Given the description of an element on the screen output the (x, y) to click on. 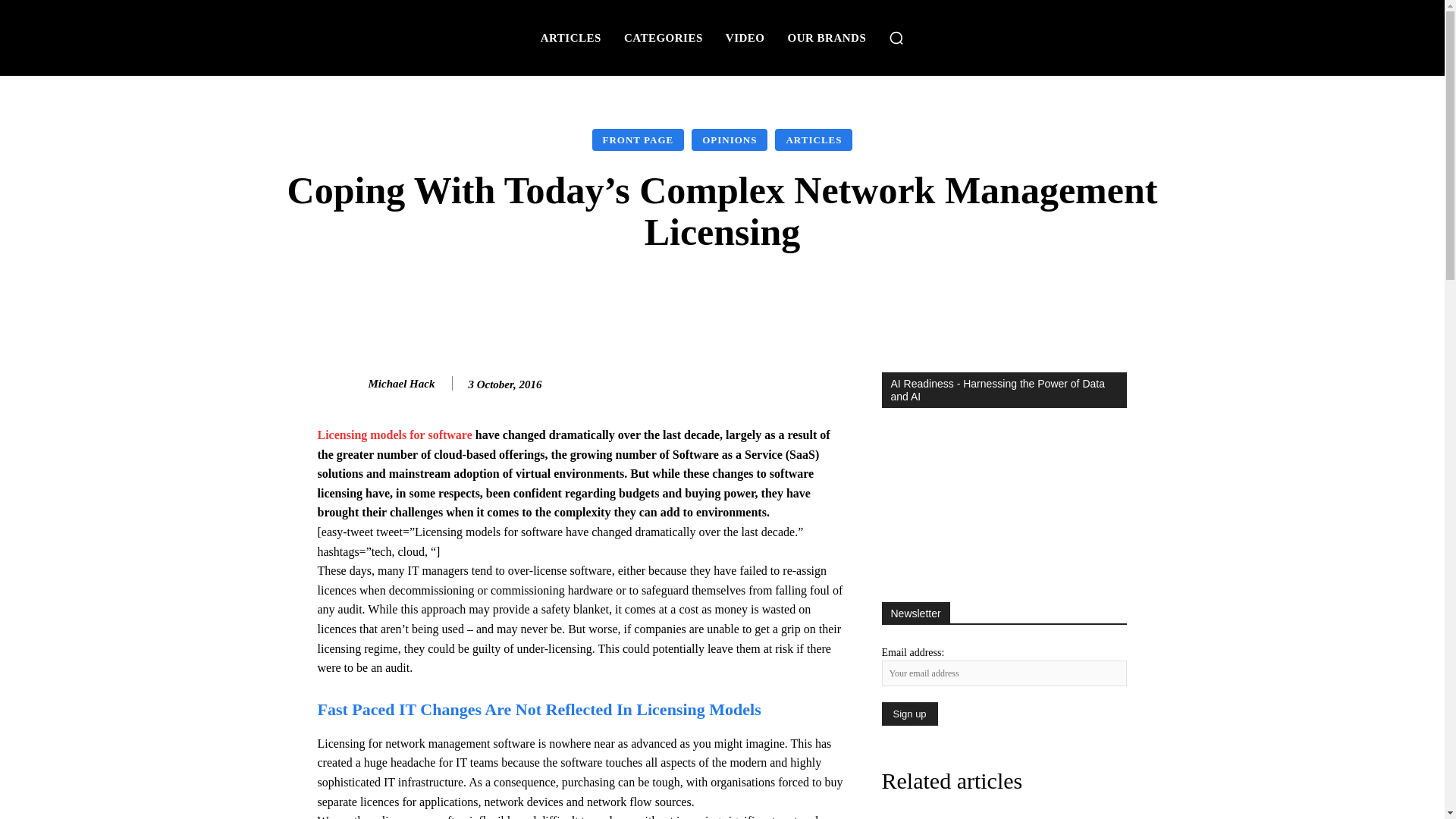
Sign up (908, 713)
